Given the description of an element on the screen output the (x, y) to click on. 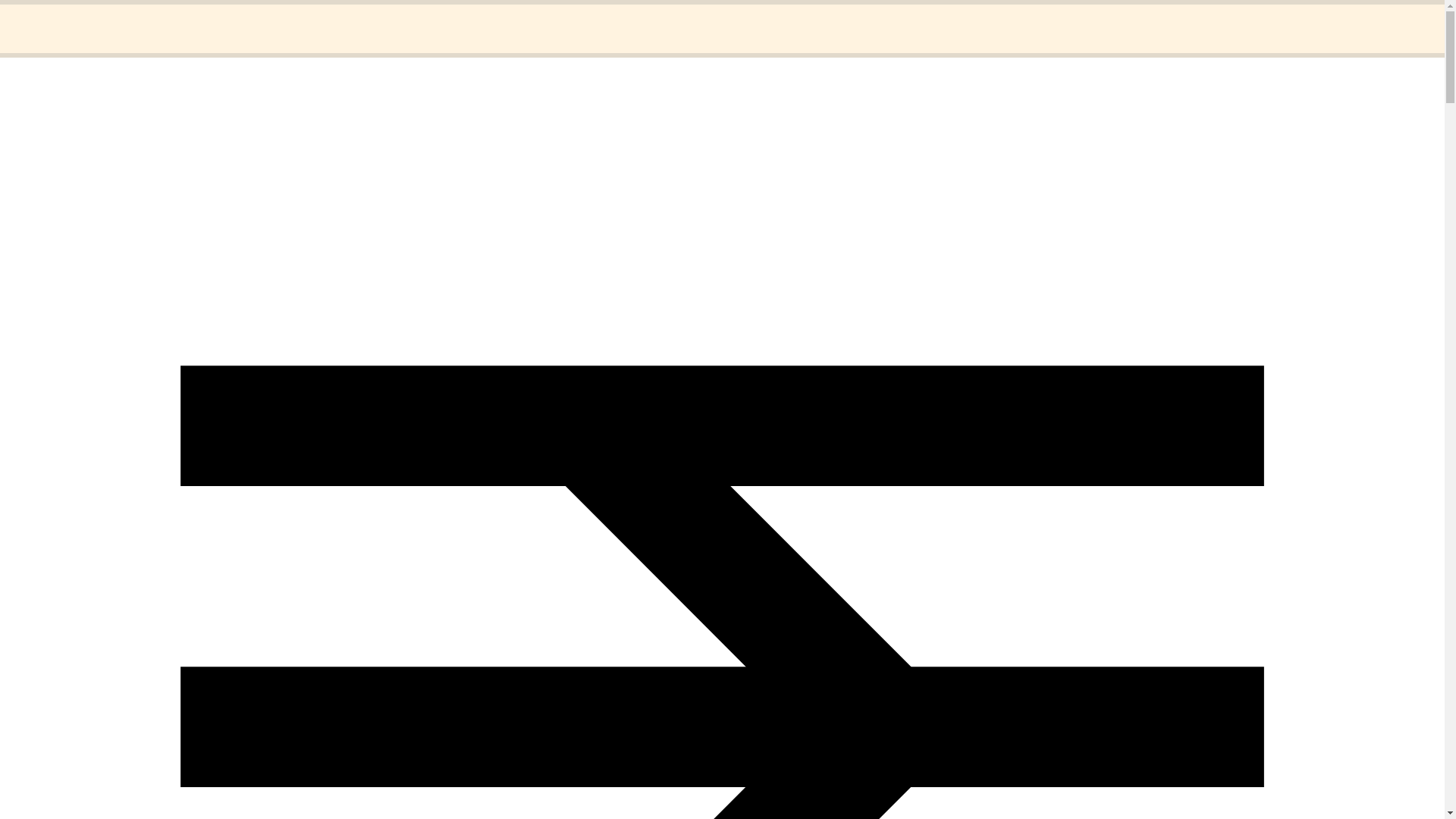
Home (50, 18)
